Given the description of an element on the screen output the (x, y) to click on. 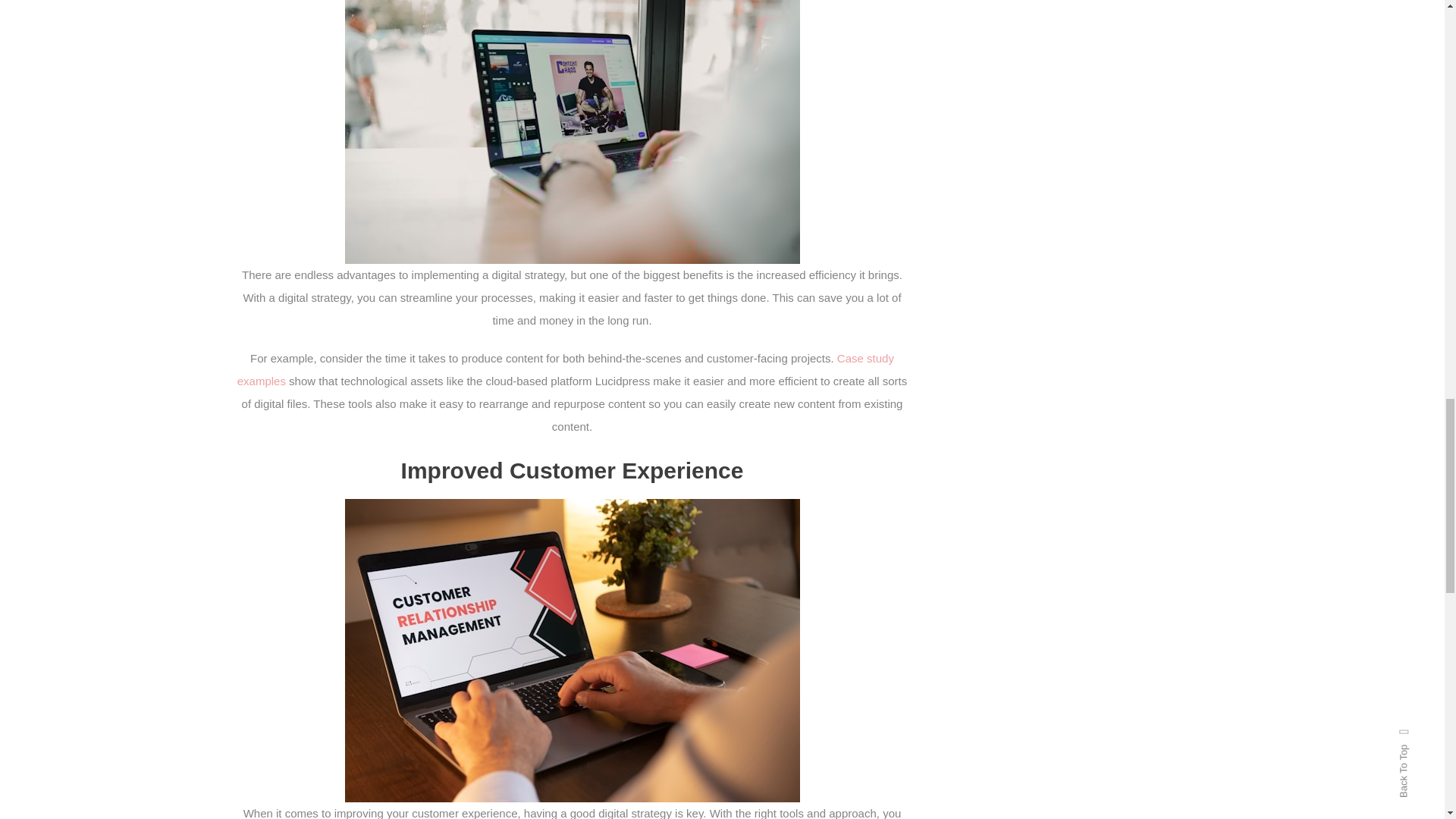
Case study examples (565, 369)
